Given the description of an element on the screen output the (x, y) to click on. 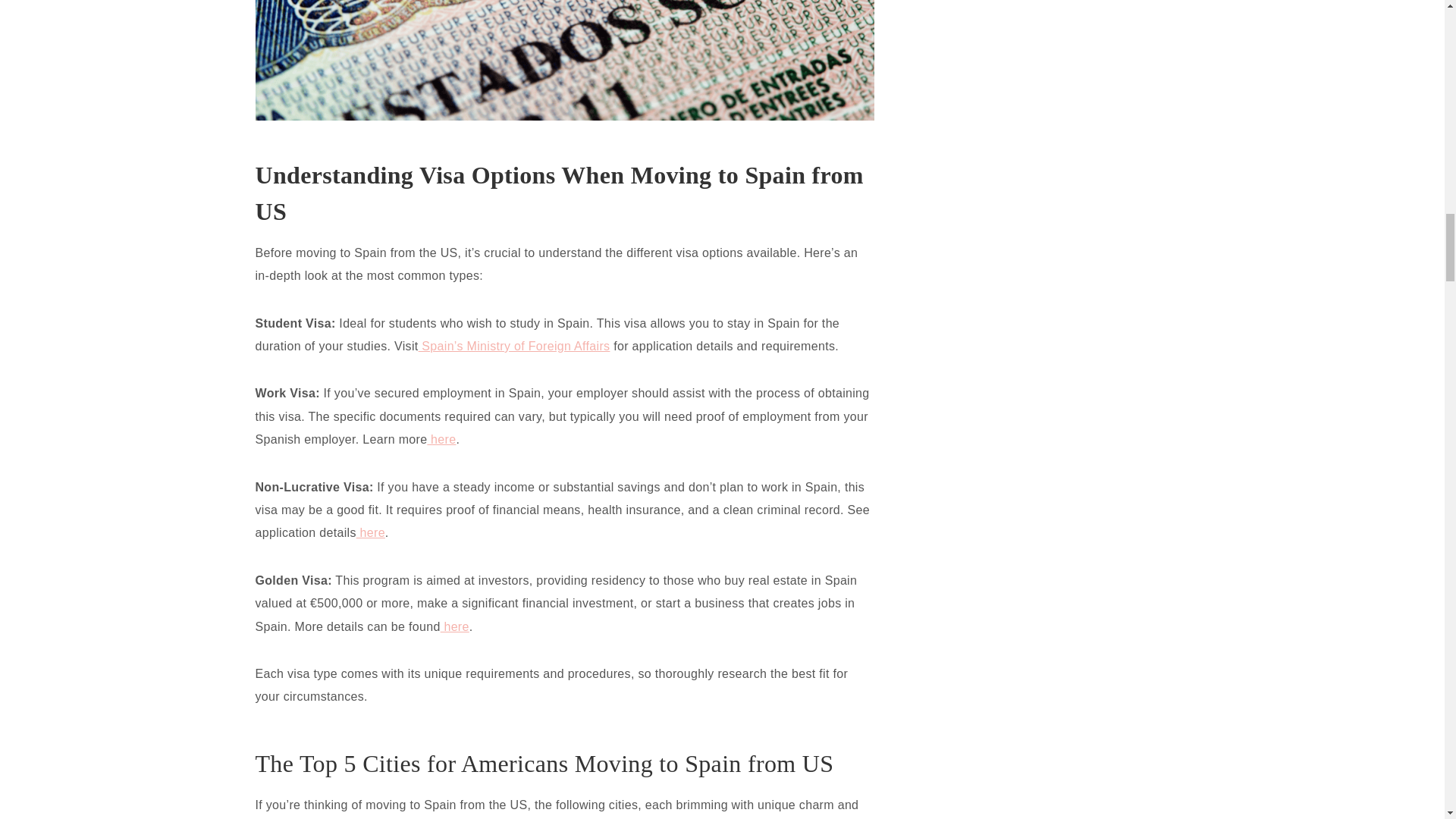
here (440, 439)
here (370, 532)
